Given the description of an element on the screen output the (x, y) to click on. 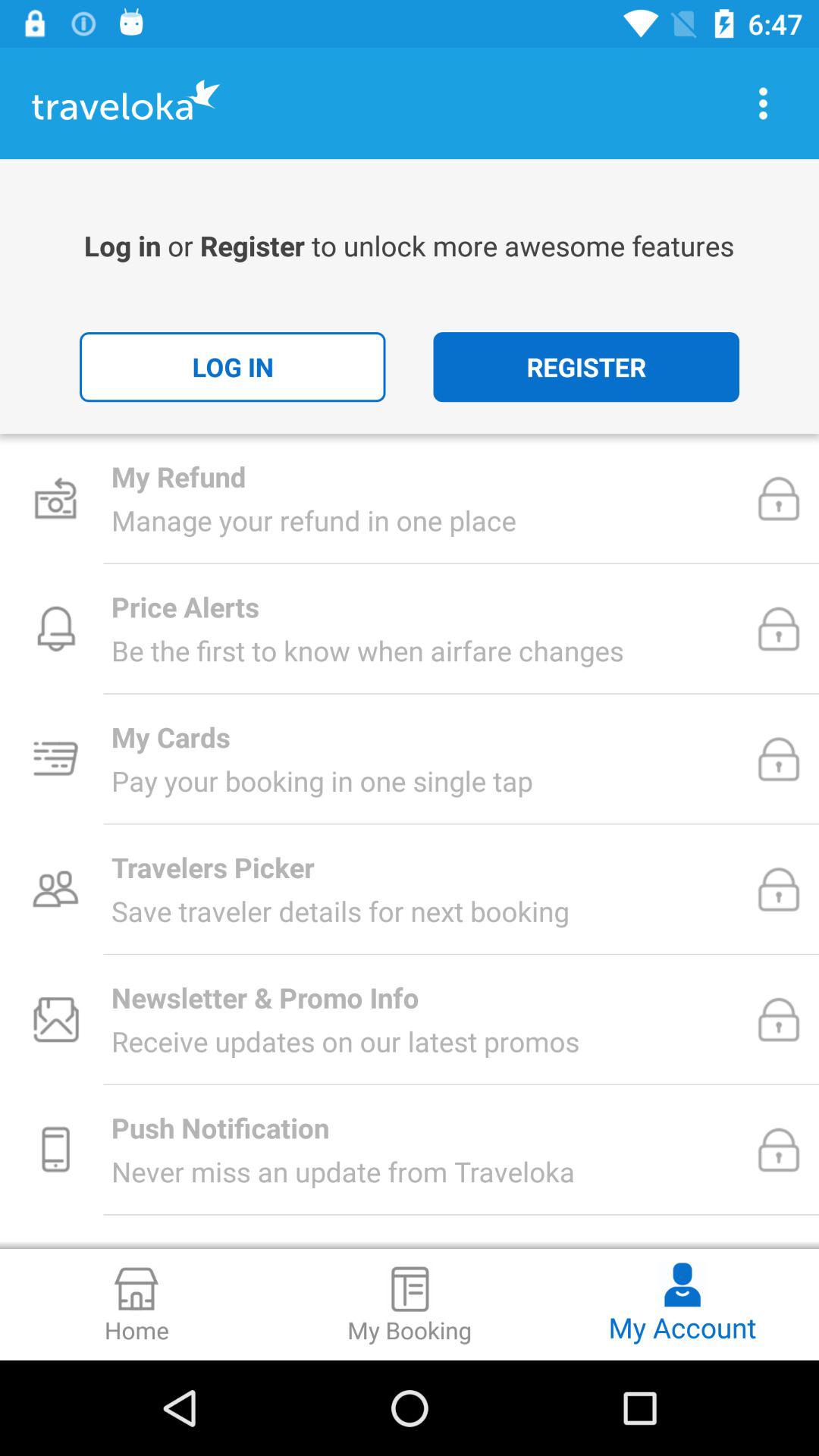
open menu (763, 103)
